Given the description of an element on the screen output the (x, y) to click on. 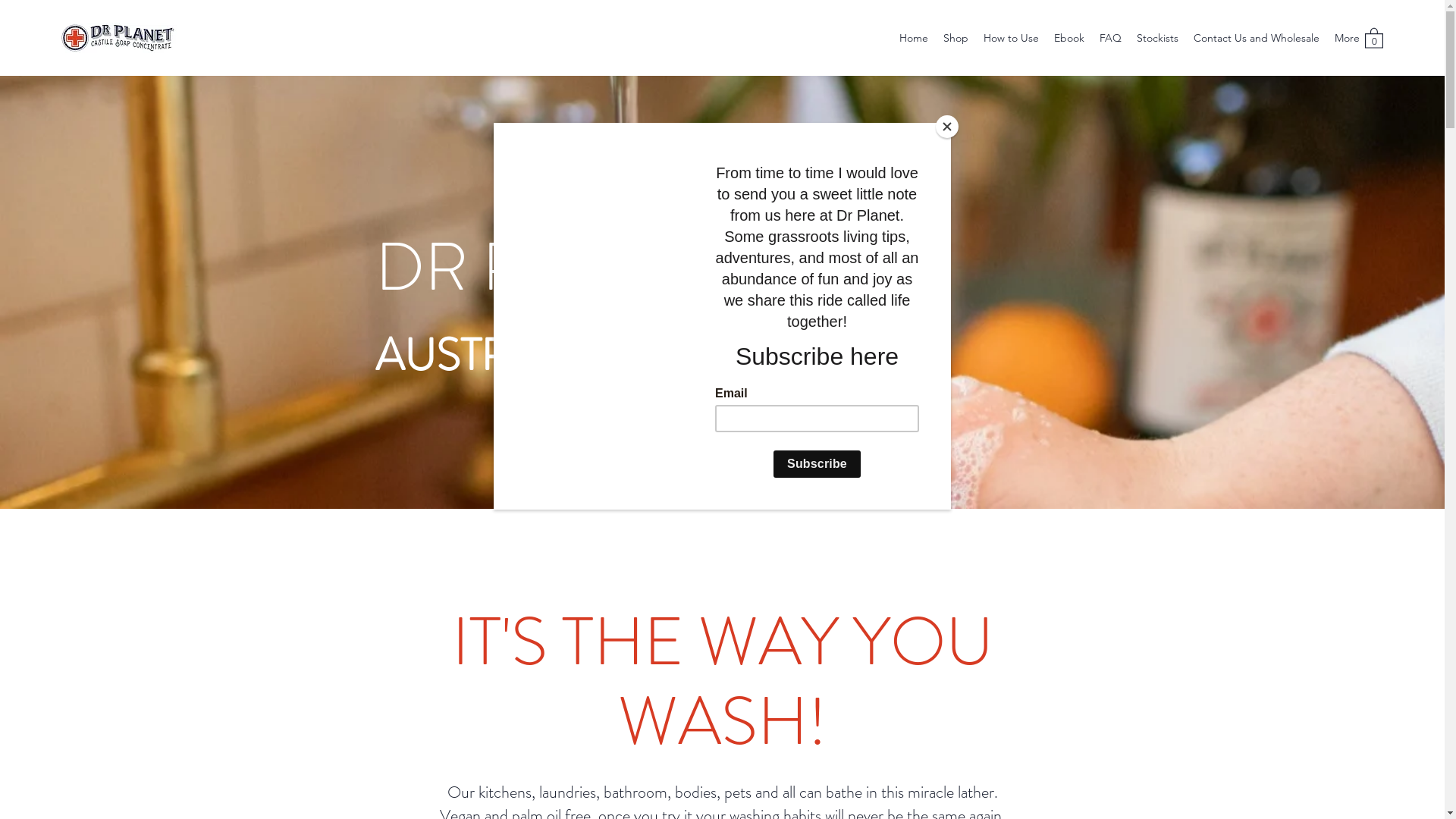
Stockists Element type: text (1157, 37)
Home Element type: text (913, 37)
Shop Element type: text (955, 37)
Ebook Element type: text (1069, 37)
Contact Us and Wholesale Element type: text (1256, 37)
How to Use Element type: text (1010, 37)
FAQ Element type: text (1110, 37)
0 Element type: text (1374, 37)
